Given the description of an element on the screen output the (x, y) to click on. 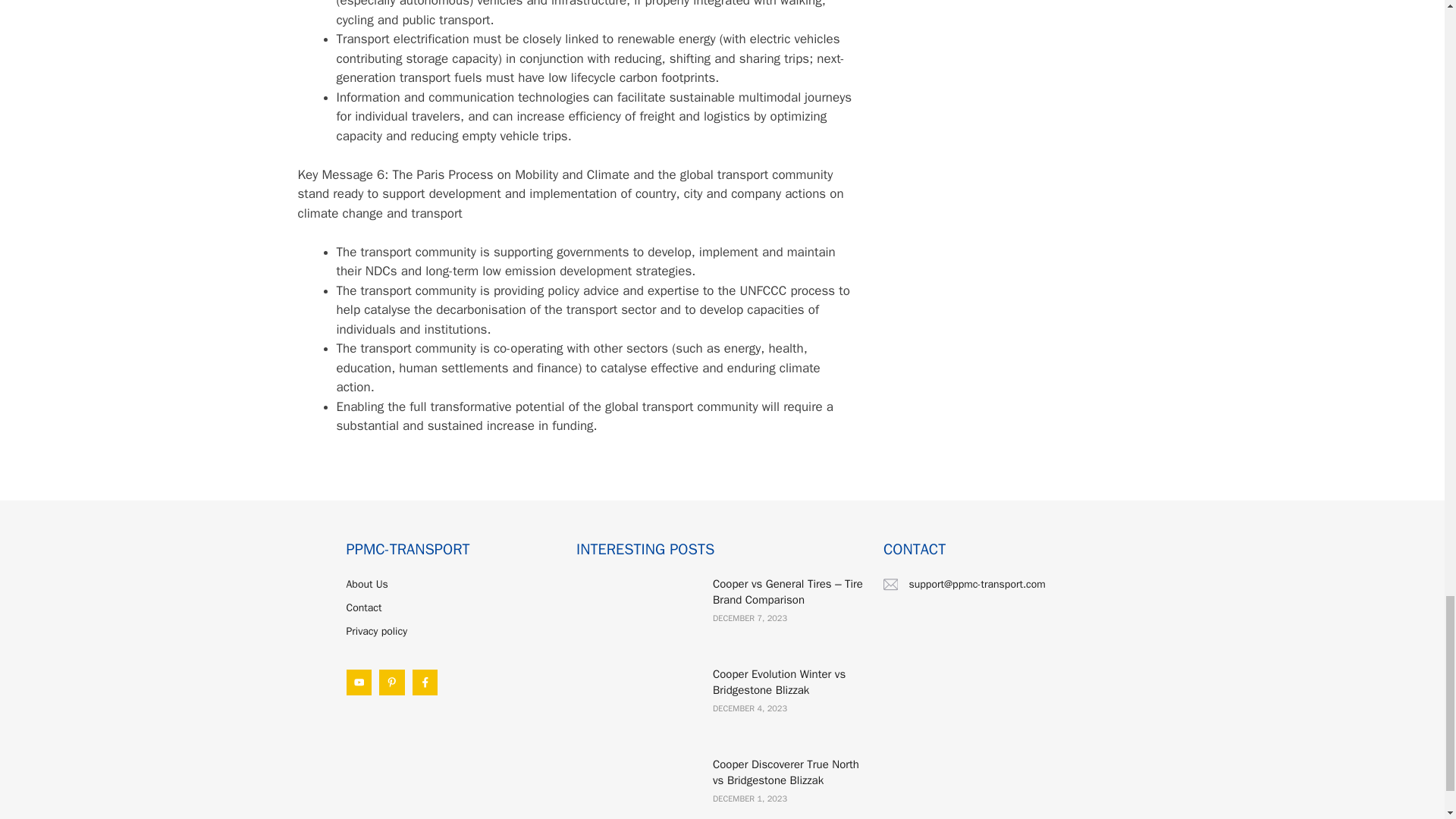
Contact (363, 607)
Cooper Discoverer True North vs Bridgestone Blizzak (786, 772)
Cooper Evolution Winter vs Bridgestone Blizzak (779, 681)
Privacy policy (376, 631)
About Us (366, 584)
